Given the description of an element on the screen output the (x, y) to click on. 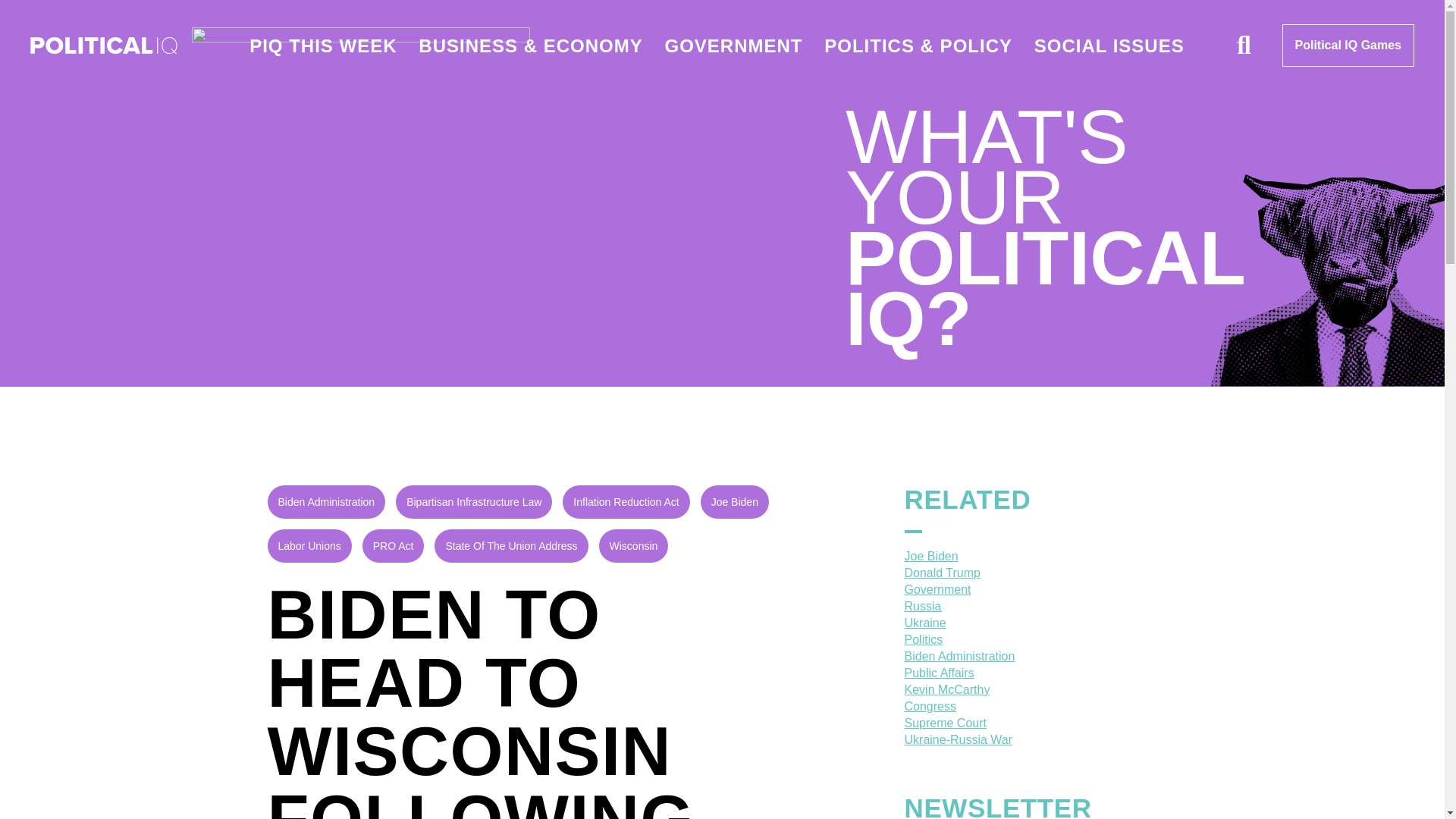
GOVERNMENT (732, 45)
PIQ THIS WEEK (322, 45)
